Given the description of an element on the screen output the (x, y) to click on. 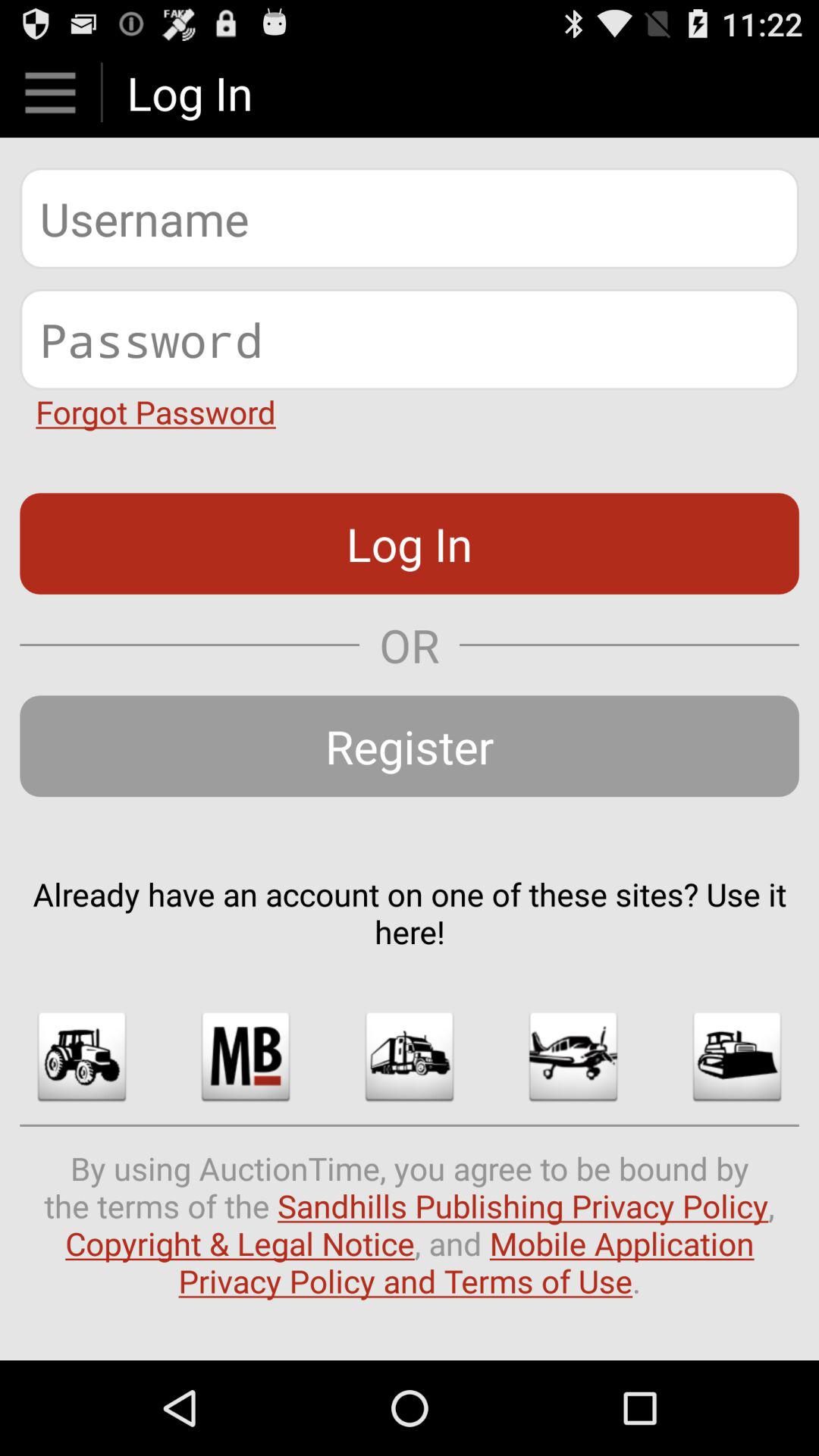
type user name (409, 218)
